Given the description of an element on the screen output the (x, y) to click on. 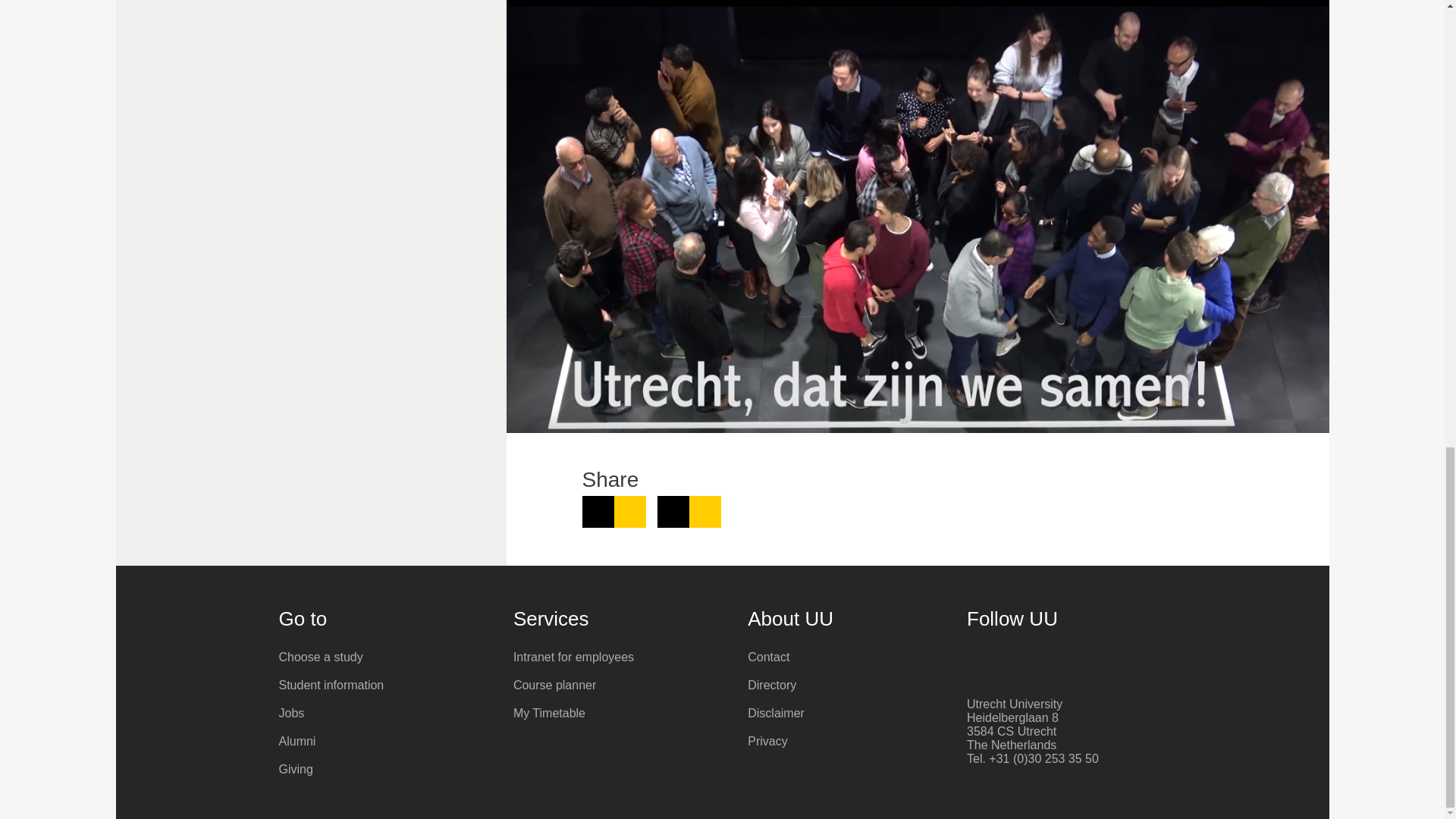
Privacy (853, 741)
Jobs (384, 713)
Course planner (619, 685)
Share on LinkedIn (614, 511)
Share on Facebook (688, 511)
Student information (384, 685)
Facebook (975, 659)
Directory (853, 685)
Share on Facebook (688, 511)
Giving (384, 769)
Contact (853, 657)
Disclaimer (853, 713)
Alumni (384, 741)
My Timetable (619, 713)
Share on LinkedIn (614, 511)
